Given the description of an element on the screen output the (x, y) to click on. 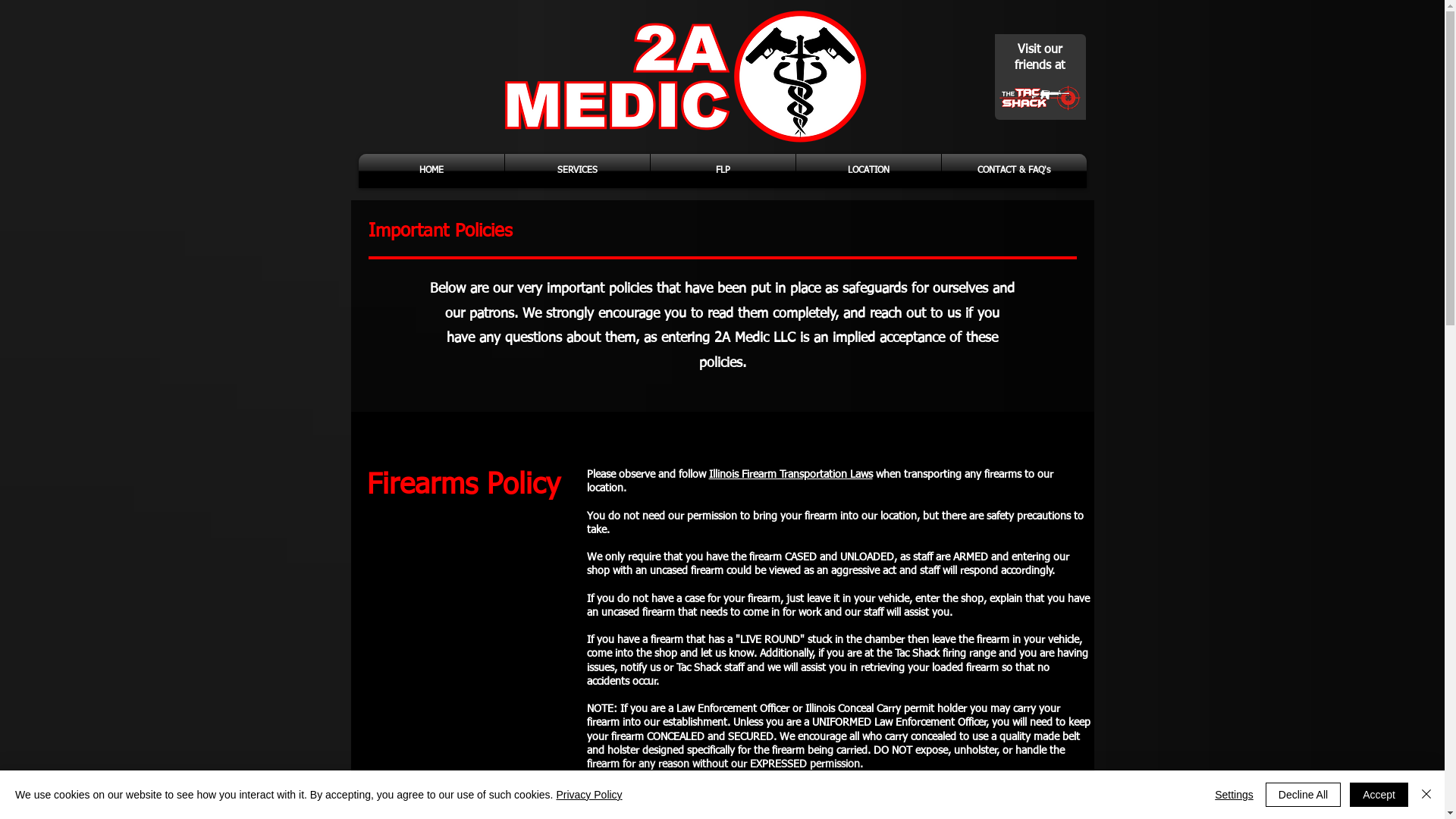
Privacy Policy Element type: text (588, 794)
Illinois Firearm Transportation Laws Element type: text (790, 474)
HOME Element type: text (430, 170)
FLP Element type: text (722, 170)
CONTACT & FAQ's Element type: text (1013, 170)
Accept Element type: text (1378, 794)
LOCATION Element type: text (868, 170)
Decline All Element type: text (1302, 794)
